Given the description of an element on the screen output the (x, y) to click on. 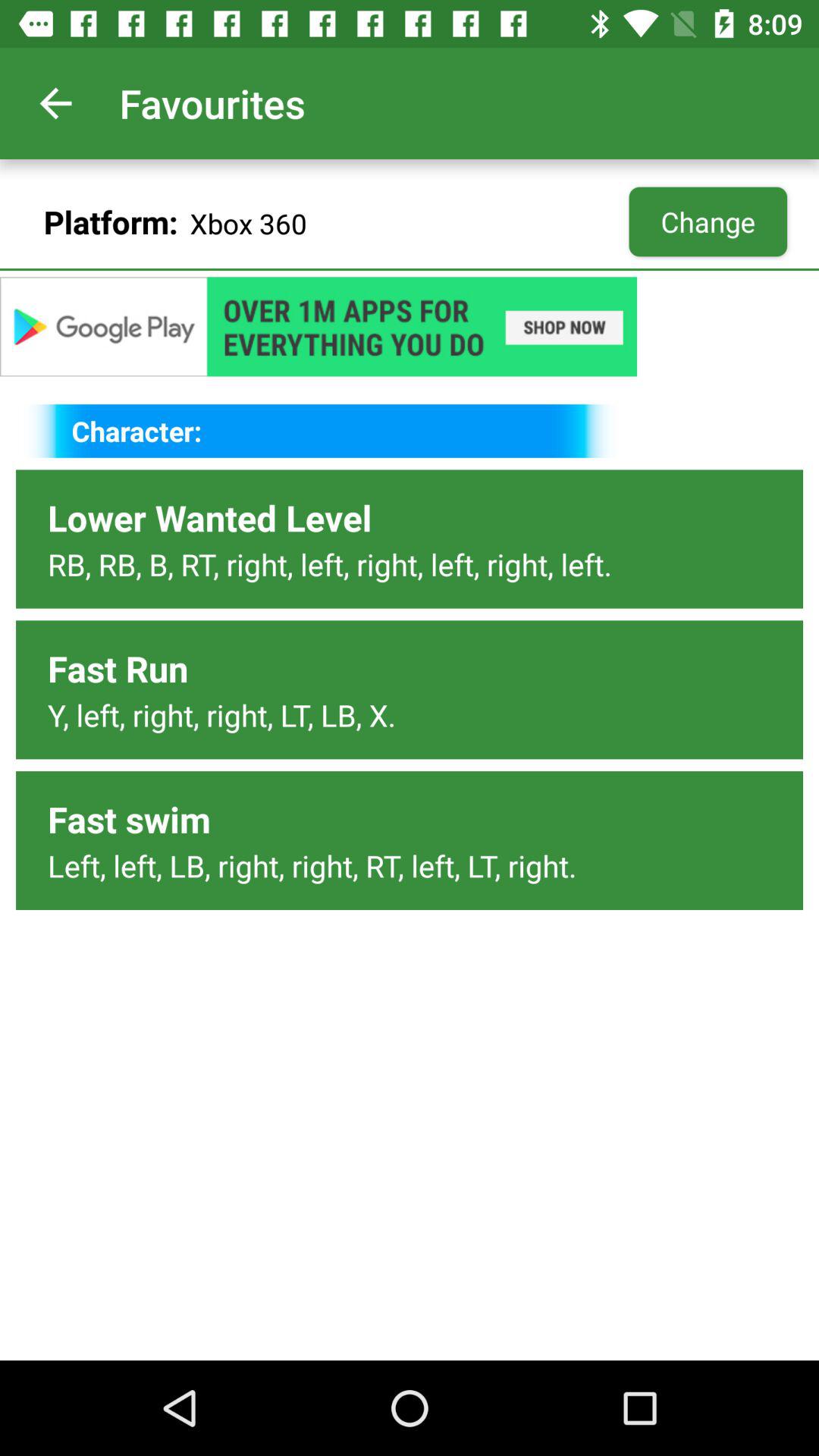
choose the selection (409, 326)
